Given the description of an element on the screen output the (x, y) to click on. 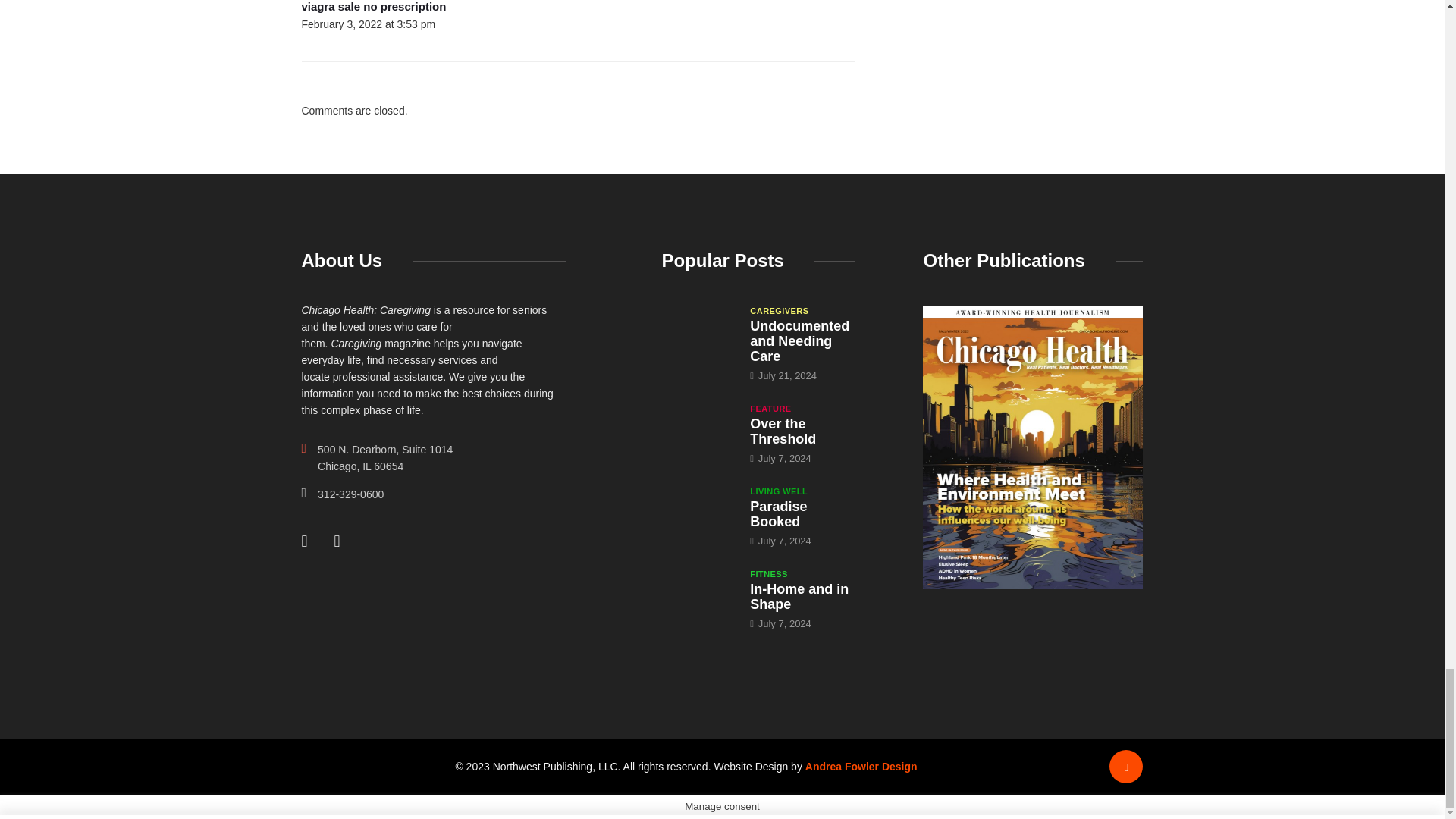
In-Home and in Shape (698, 594)
Over the Threshold (698, 428)
Paradise Booked (777, 513)
Over the Threshold (782, 431)
Paradise Booked (698, 511)
Undocumented and Needing Care (798, 340)
In-Home and in Shape (798, 596)
Undocumented and Needing Care (698, 331)
